Given the description of an element on the screen output the (x, y) to click on. 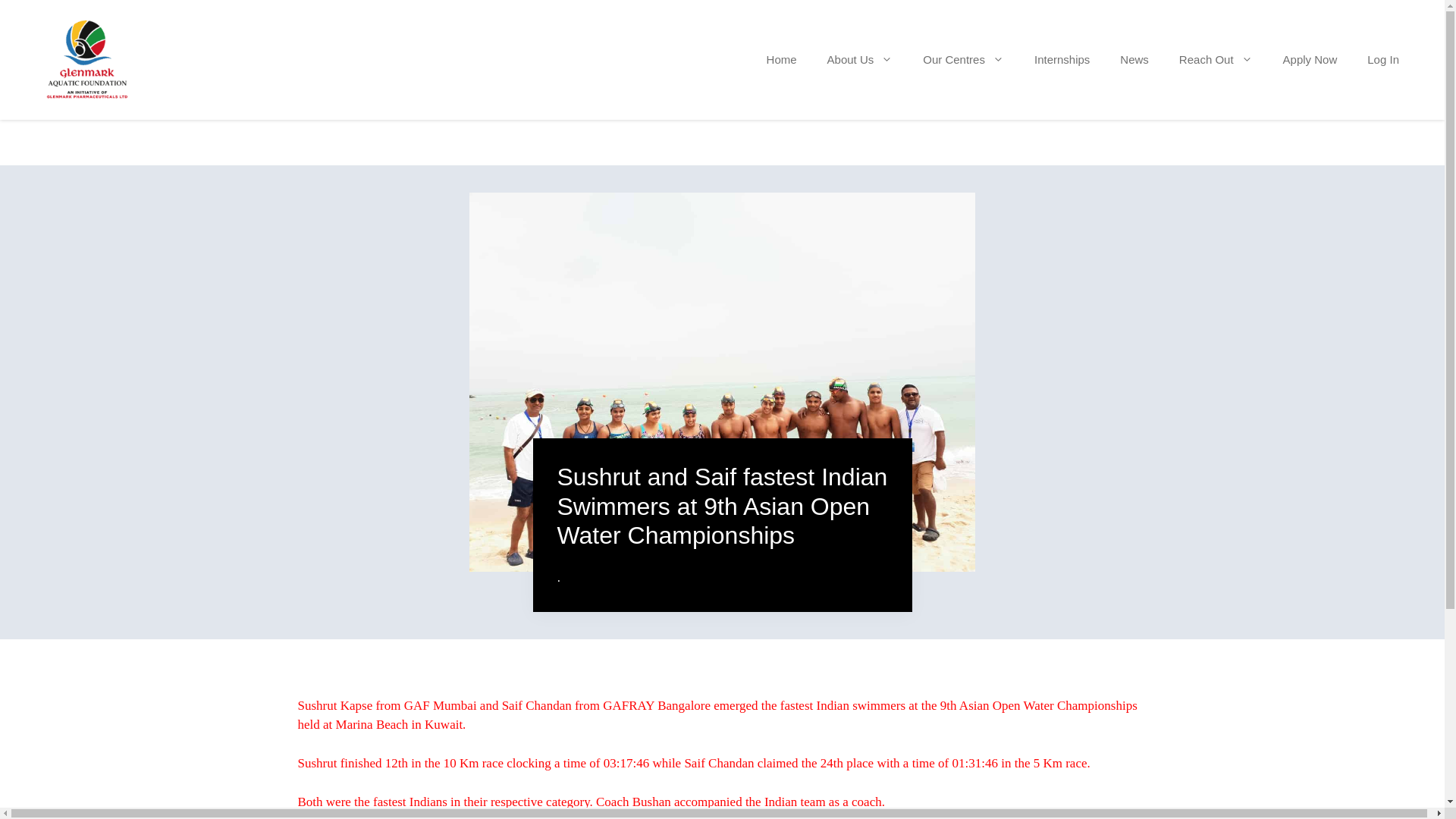
Apply Now (1310, 59)
Internships (1062, 59)
News (1134, 59)
Log In (1382, 59)
Home (781, 59)
About Us (860, 59)
Reach Out (1215, 59)
Our Centres (963, 59)
